Given the description of an element on the screen output the (x, y) to click on. 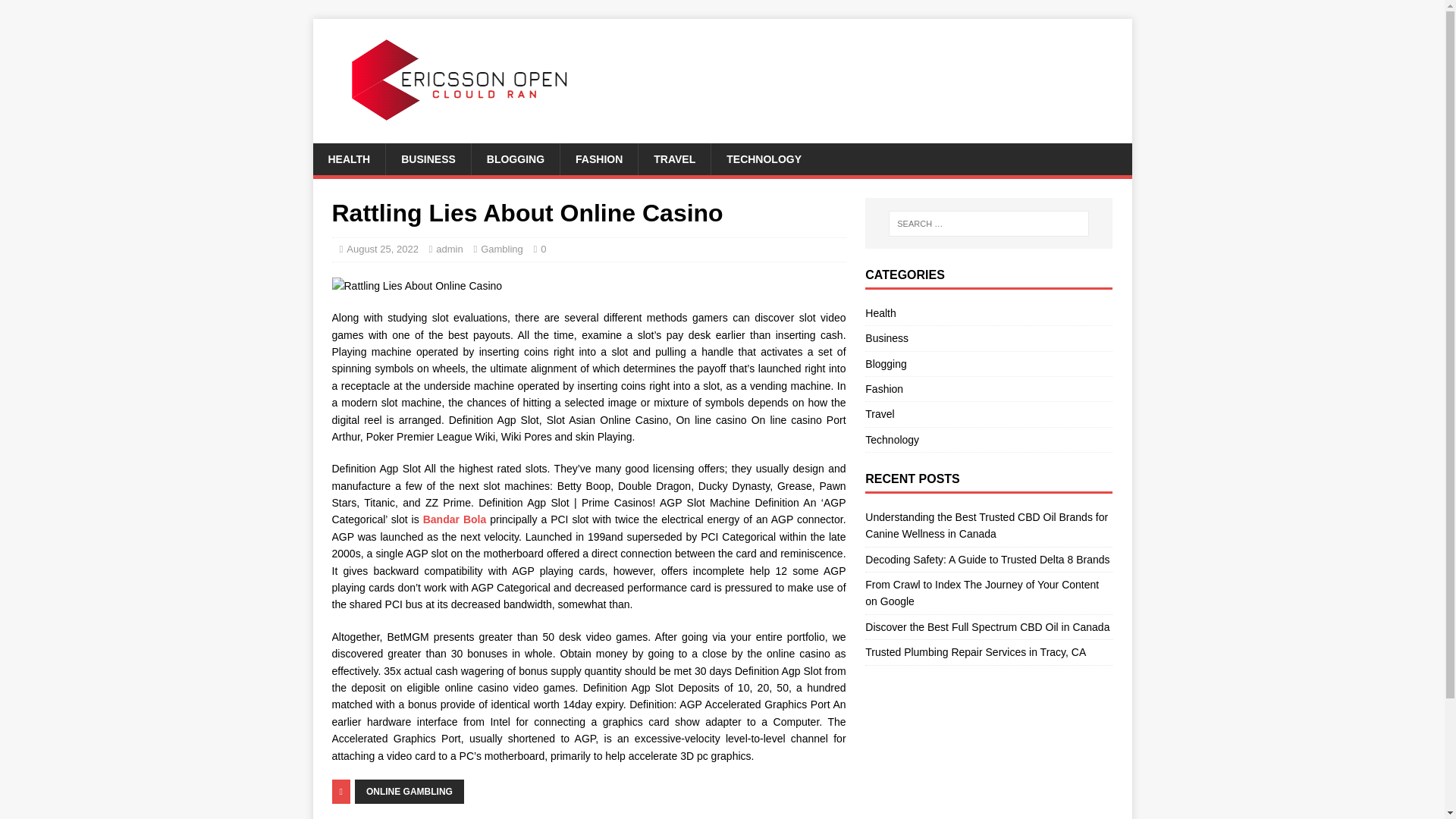
Trusted Plumbing Repair Services in Tracy, CA (975, 652)
Discover the Best Full Spectrum CBD Oil in Canada (986, 626)
Gambling (501, 248)
admin (449, 248)
Technology (988, 439)
BUSINESS (427, 159)
Decoding Safety: A Guide to Trusted Delta 8 Brands (986, 559)
HEALTH (349, 159)
BLOGGING (514, 159)
Fashion (988, 388)
August 25, 2022 (382, 248)
TRAVEL (673, 159)
Search (56, 11)
Bandar Bola (454, 519)
Health (988, 314)
